Given the description of an element on the screen output the (x, y) to click on. 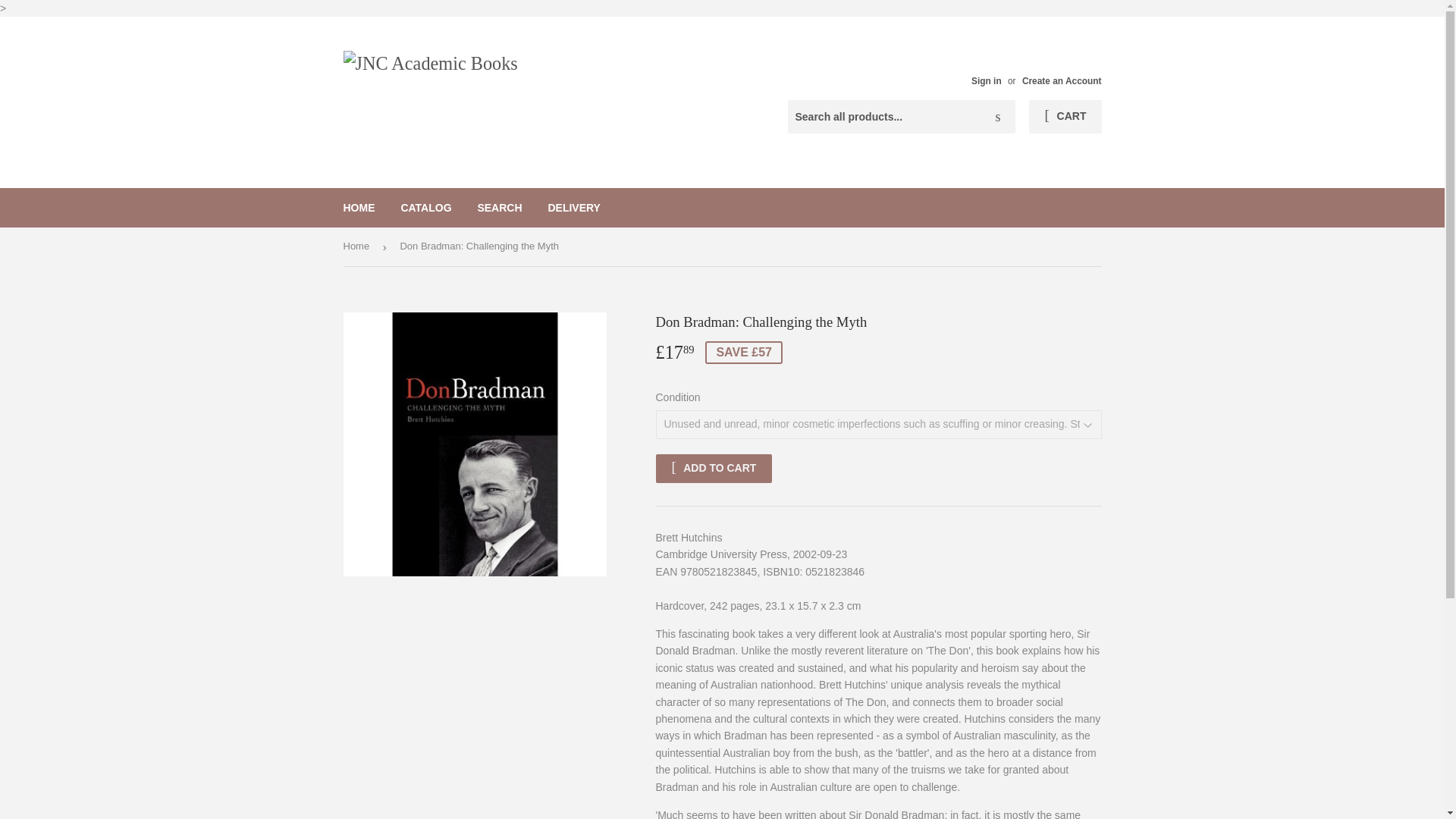
CATALOG (425, 207)
Sign in (986, 81)
Create an Account (1062, 81)
CART (1064, 116)
ADD TO CART (713, 468)
DELIVERY (573, 207)
SEARCH (498, 207)
Search (997, 117)
HOME (359, 207)
